Given the description of an element on the screen output the (x, y) to click on. 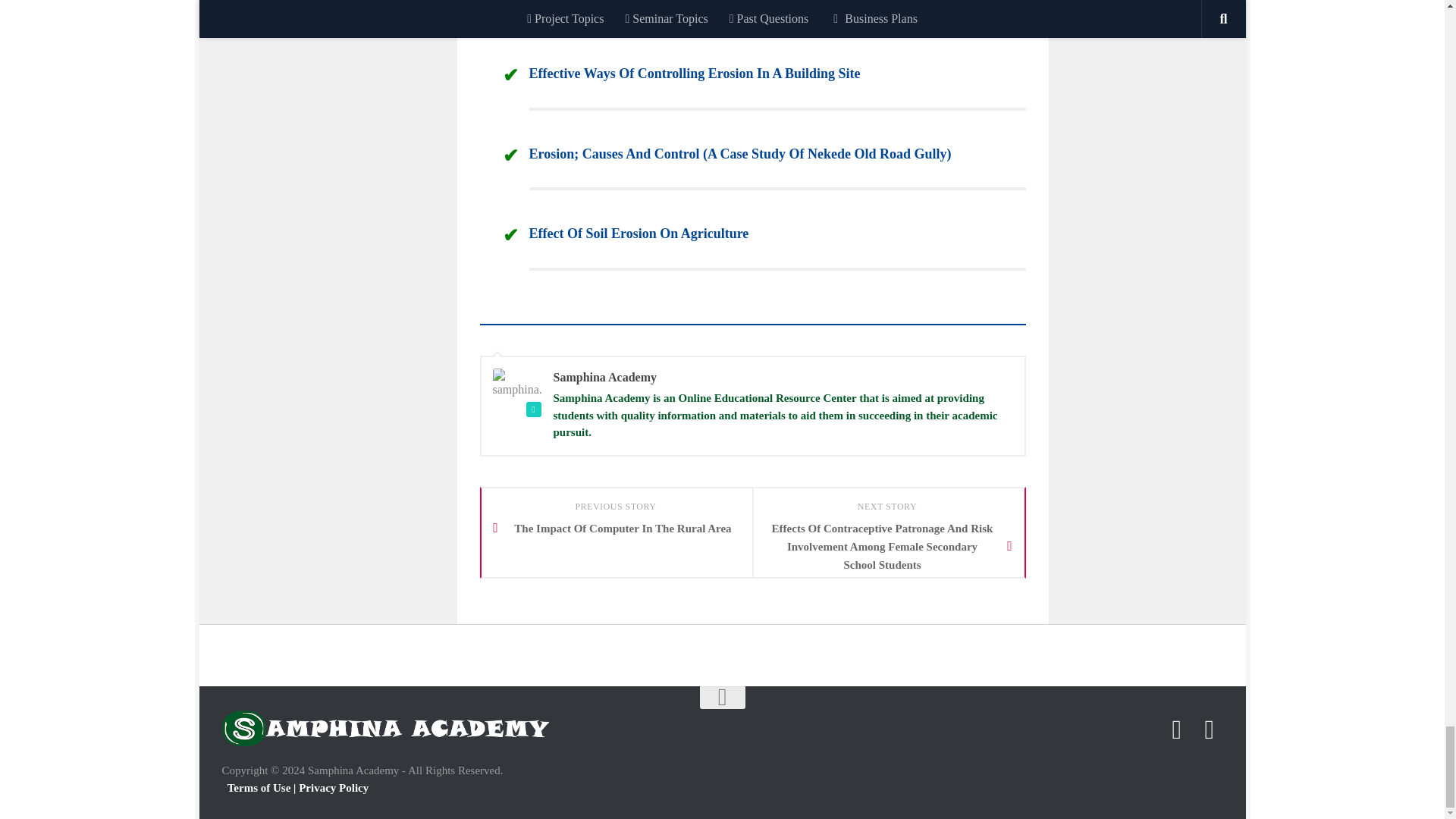
Effect Of Soil Erosion On Agriculture (639, 233)
The Impact Of Computer In The Rural Area (616, 528)
Effective Ways Of Controlling Erosion In A Building Site (694, 73)
